Given the description of an element on the screen output the (x, y) to click on. 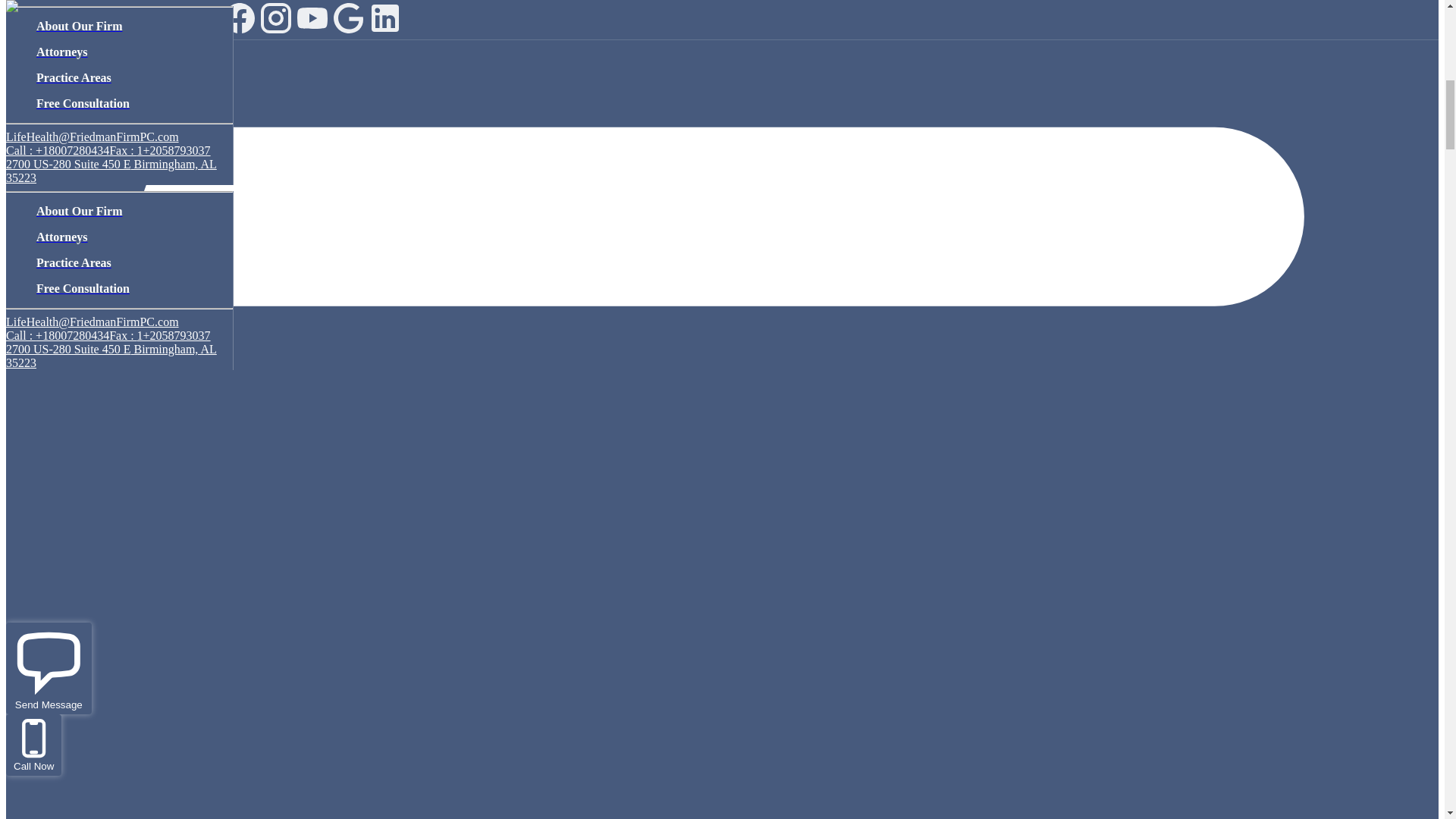
Send Message (48, 668)
Call Now (33, 744)
Call Now (33, 765)
